Given the description of an element on the screen output the (x, y) to click on. 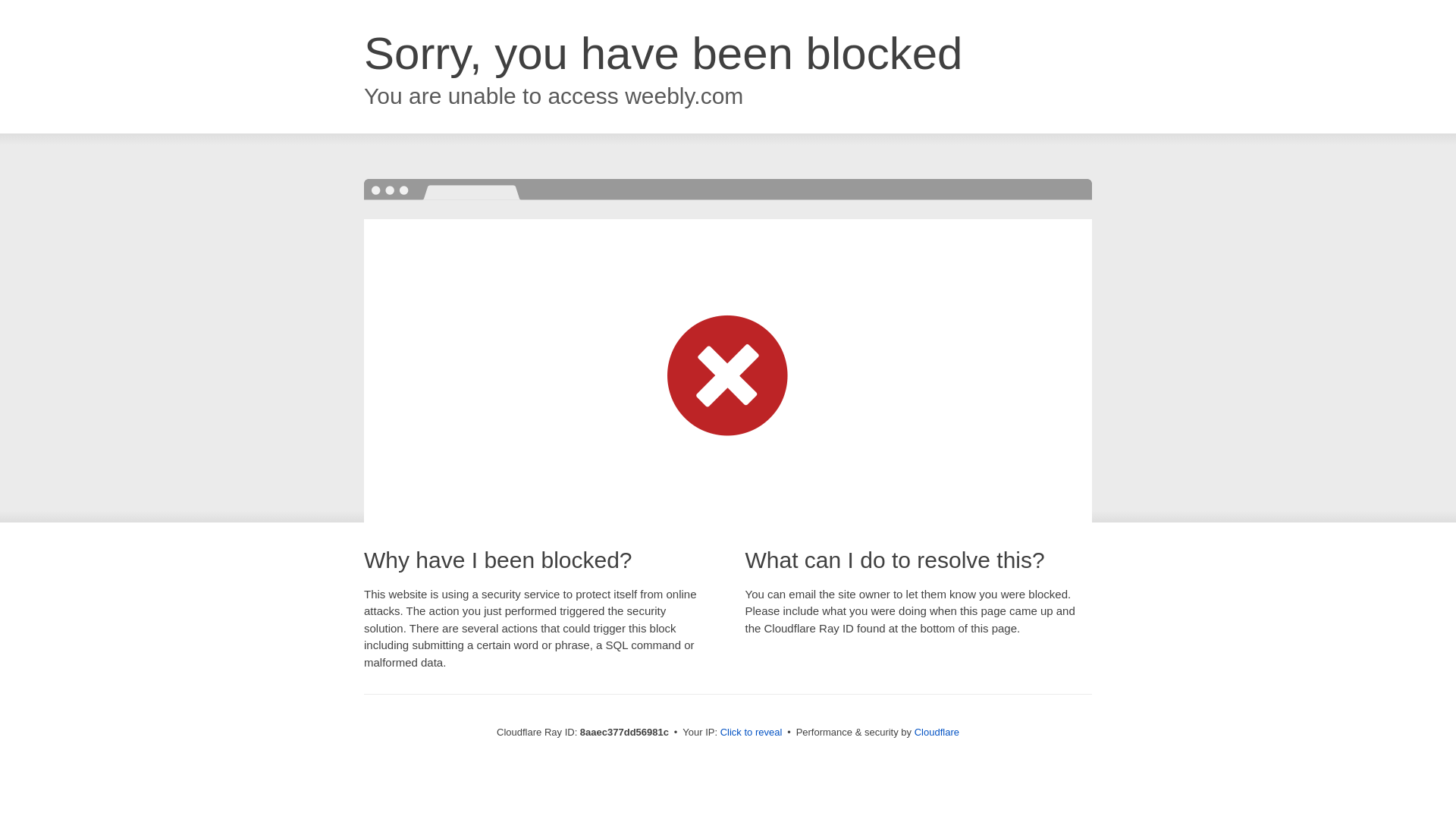
Click to reveal (751, 732)
Cloudflare (936, 731)
